Given the description of an element on the screen output the (x, y) to click on. 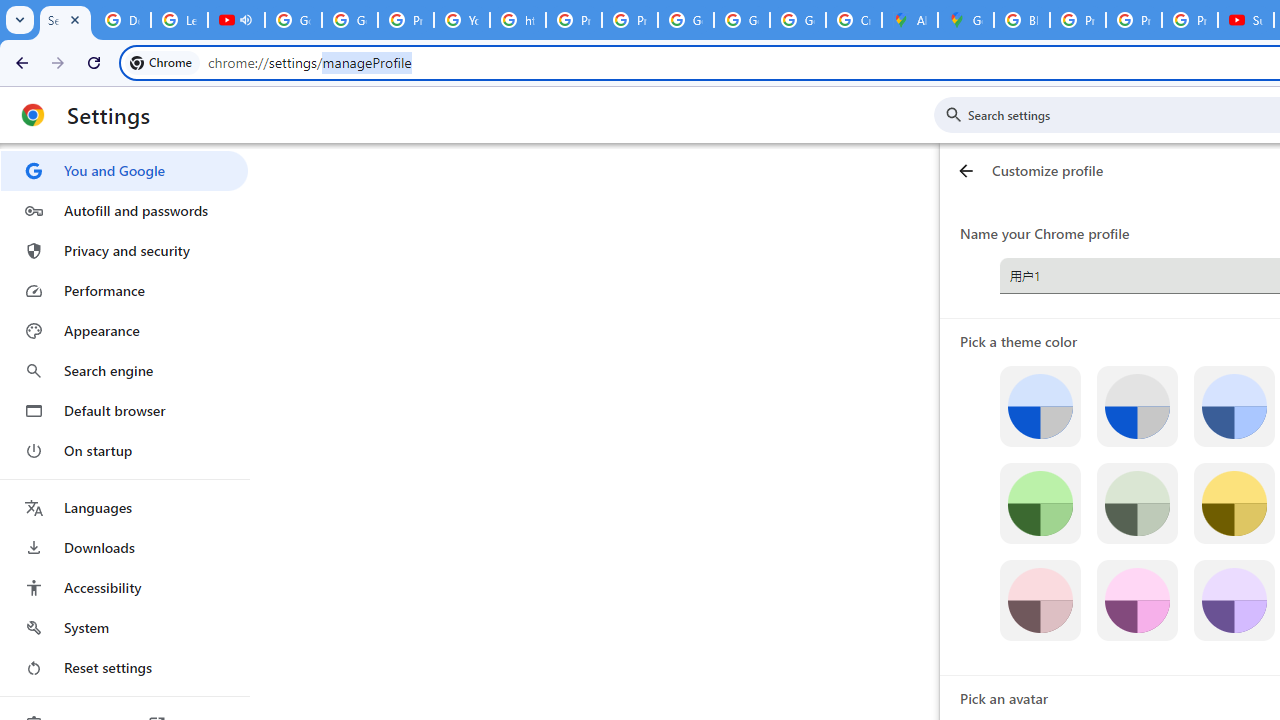
Google Account Help (293, 20)
Privacy Help Center - Policies Help (573, 20)
Create your Google Account (853, 20)
Languages (124, 507)
On startup (124, 450)
Privacy and security (124, 250)
